Given the description of an element on the screen output the (x, y) to click on. 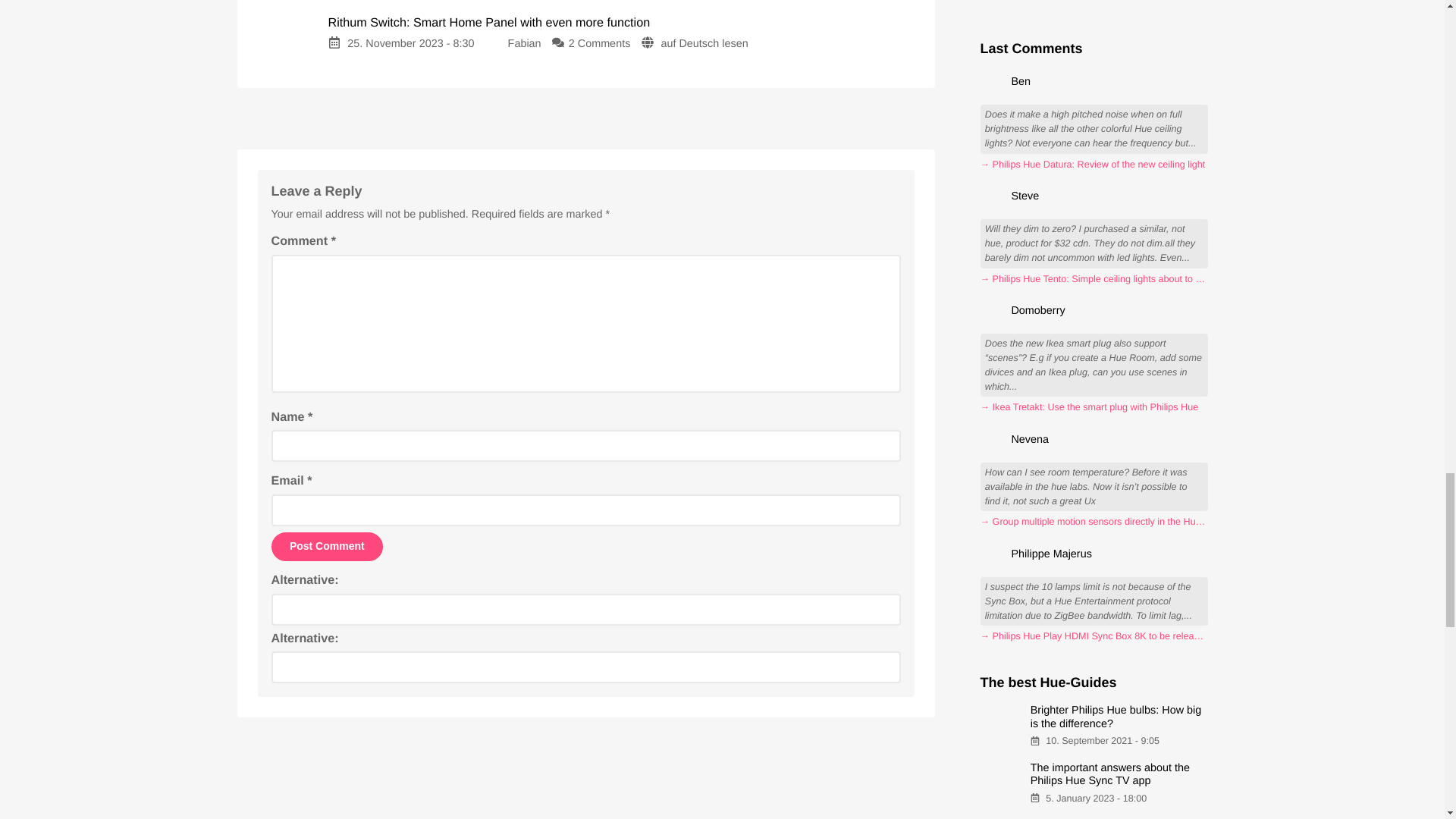
auf Deutsch lesen (704, 43)
Post Comment (327, 546)
